Given the description of an element on the screen output the (x, y) to click on. 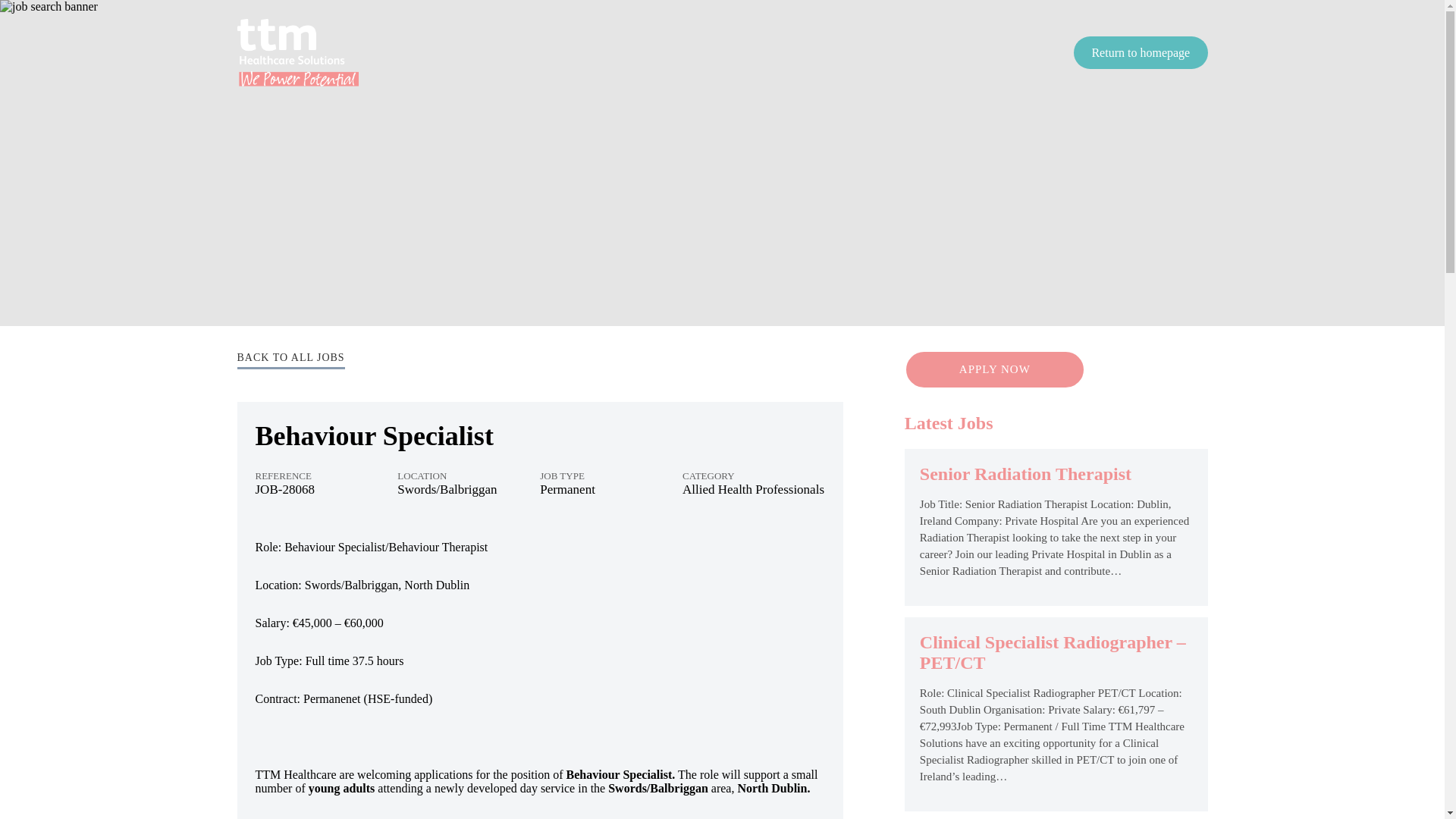
BACK TO ALL JOBS (289, 358)
APPLY NOW (994, 369)
Return to homepage (1140, 52)
